Given the description of an element on the screen output the (x, y) to click on. 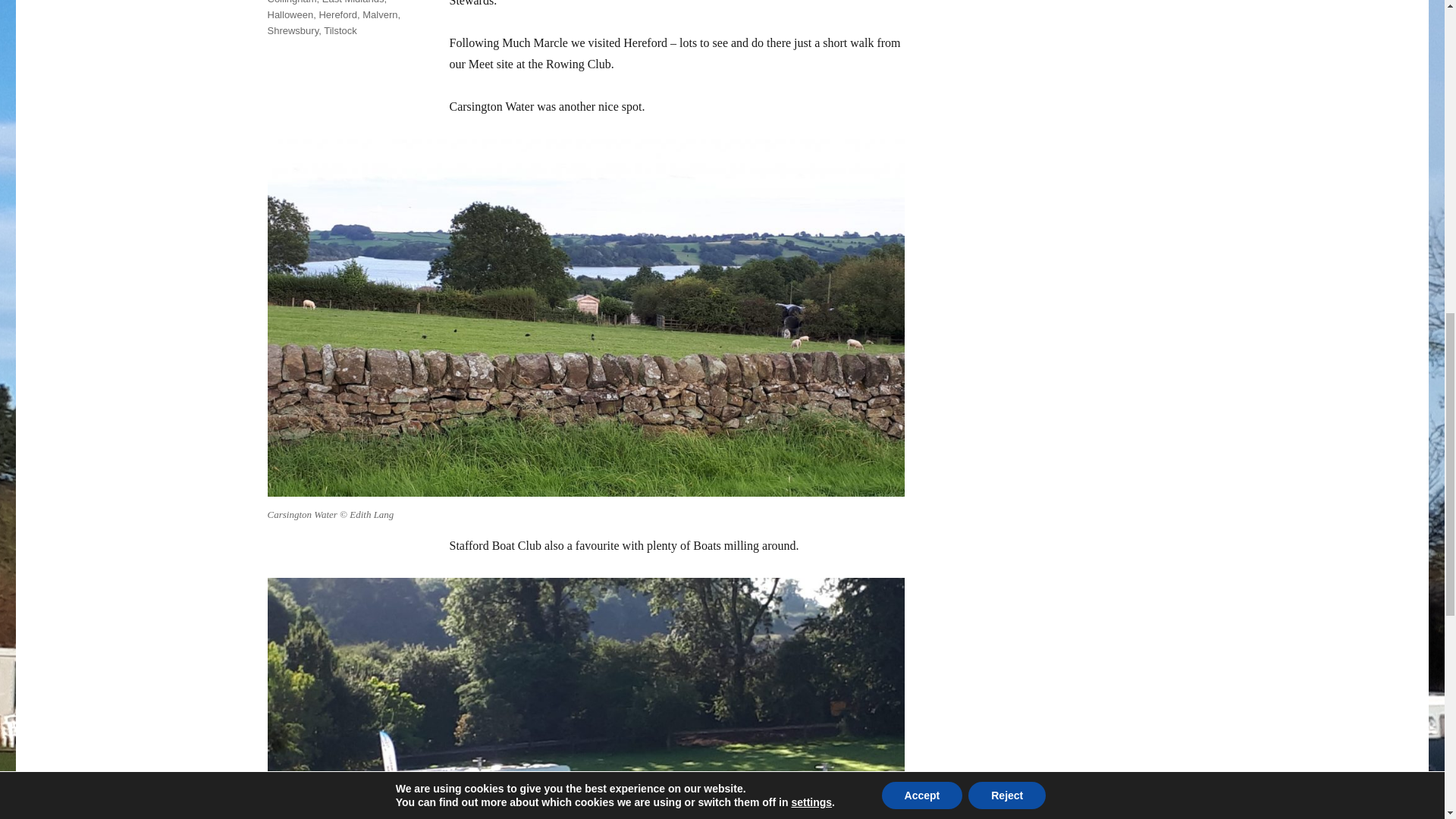
Shrewsbury (292, 30)
Collingham (290, 2)
Halloween (289, 14)
Malvern (379, 14)
Hereford (337, 14)
East Midlands (352, 2)
Tilstock (339, 30)
